Given the description of an element on the screen output the (x, y) to click on. 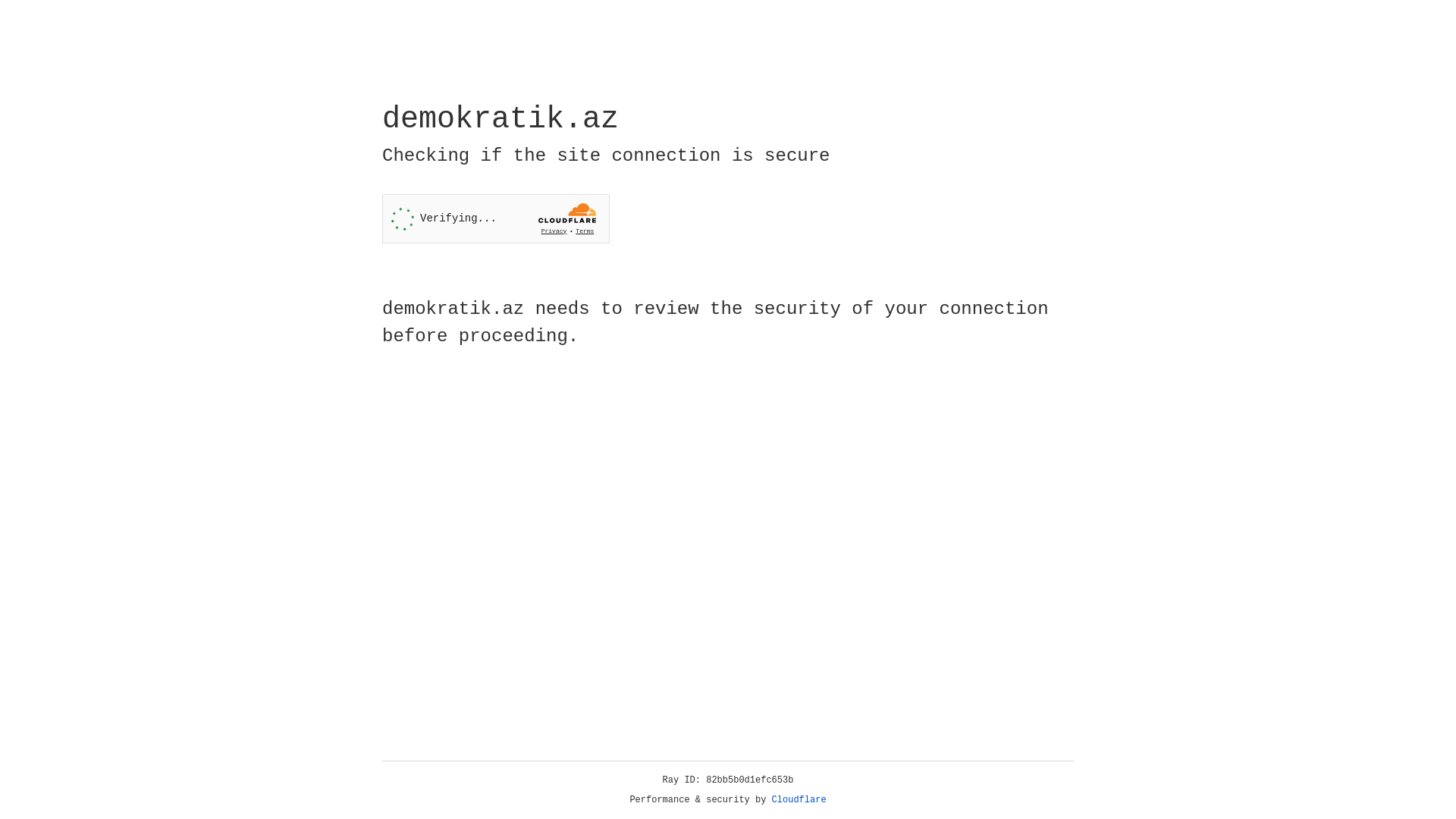
Cloudflare Element type: text (798, 799)
Widget containing a Cloudflare security challenge Element type: hover (495, 218)
